Given the description of an element on the screen output the (x, y) to click on. 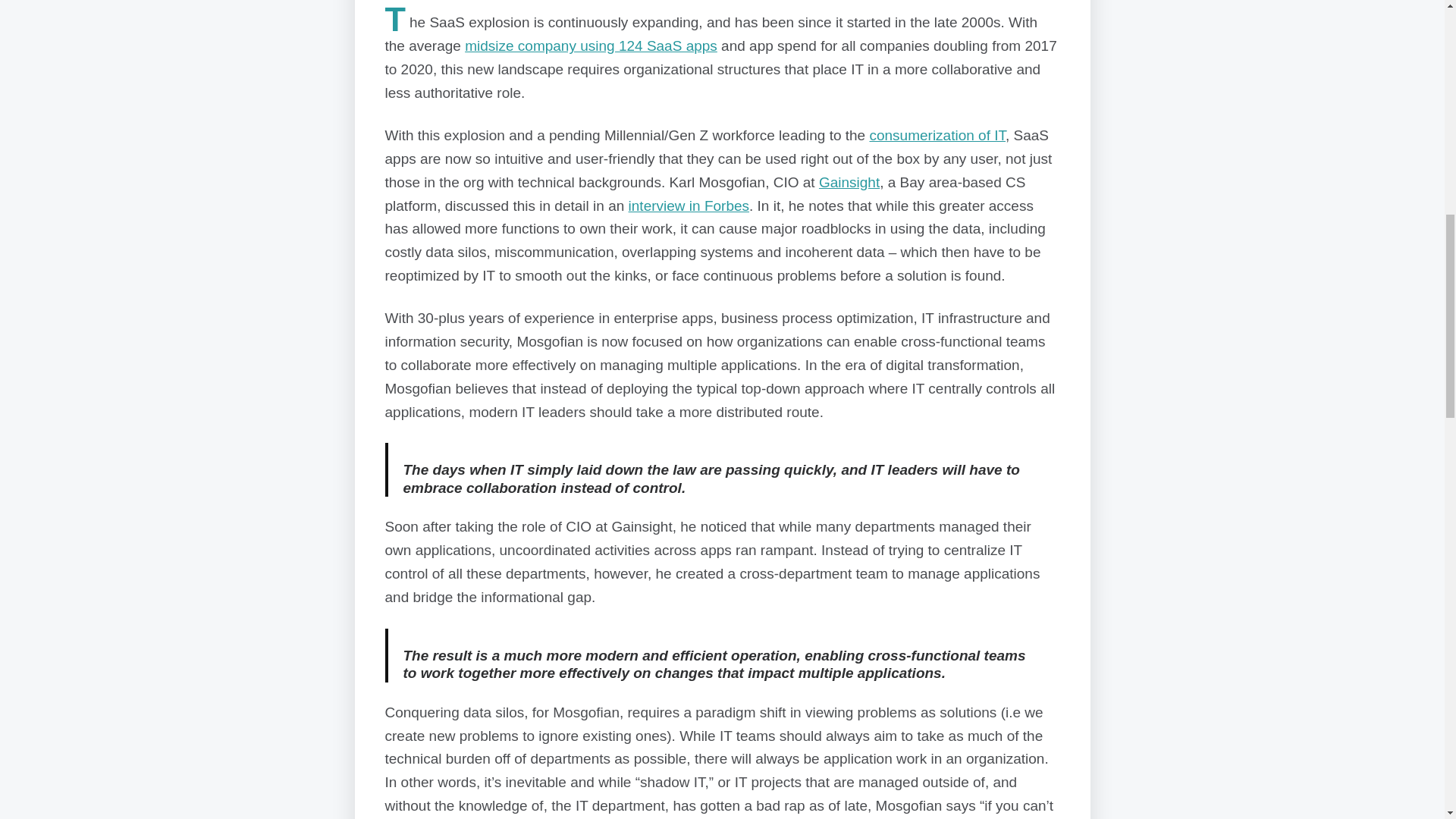
interview in Forbes (688, 205)
consumerization of IT (937, 135)
midsize company using 124 SaaS apps (590, 45)
Gainsight (848, 182)
